Given the description of an element on the screen output the (x, y) to click on. 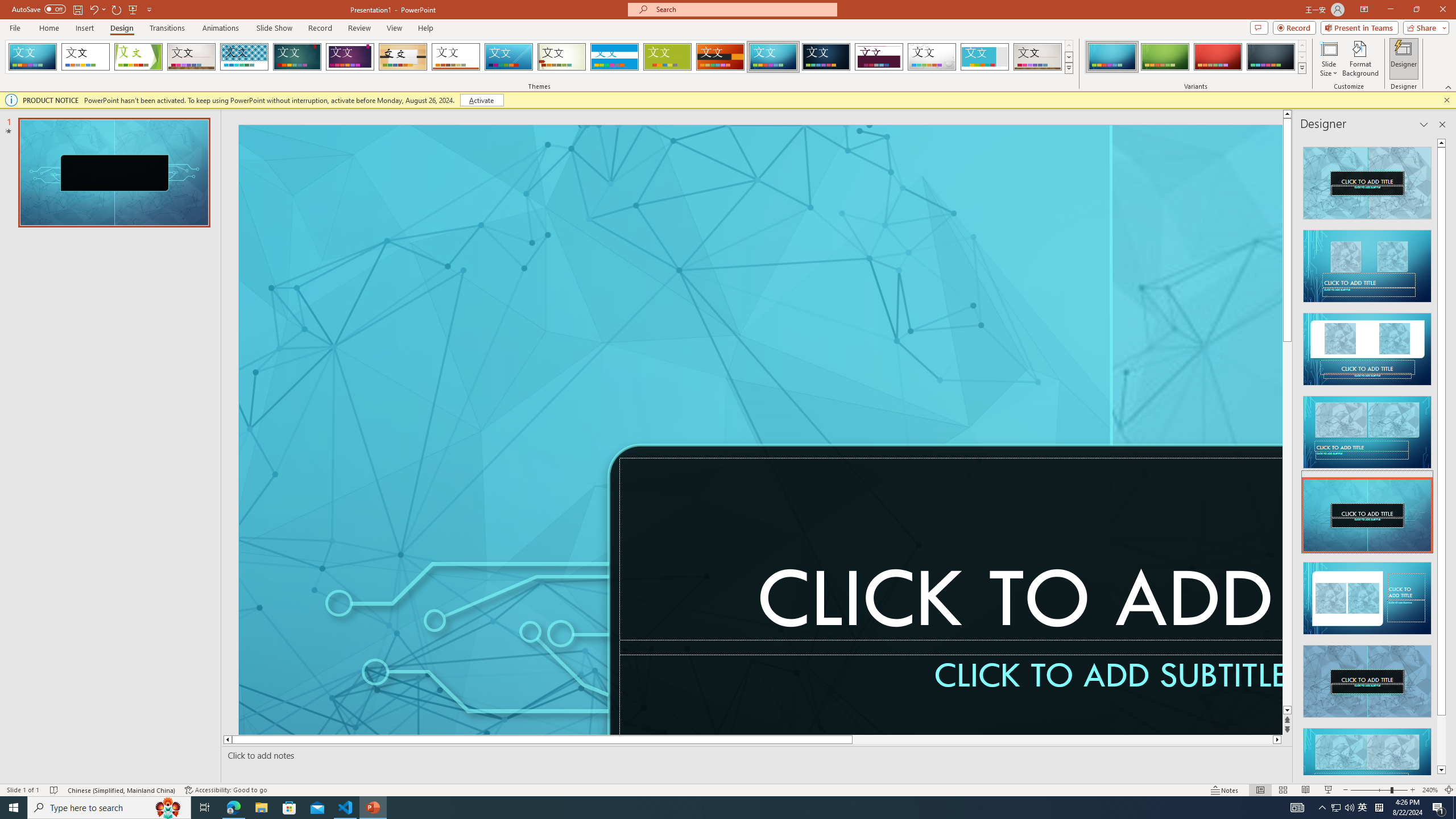
Page down (1441, 740)
Format Background (1360, 58)
Title TextBox (950, 556)
Variants (1301, 67)
Design Idea (1366, 760)
Circuit Variant 2 (1164, 56)
Class: NetUIScrollBar (1441, 456)
